Given the description of an element on the screen output the (x, y) to click on. 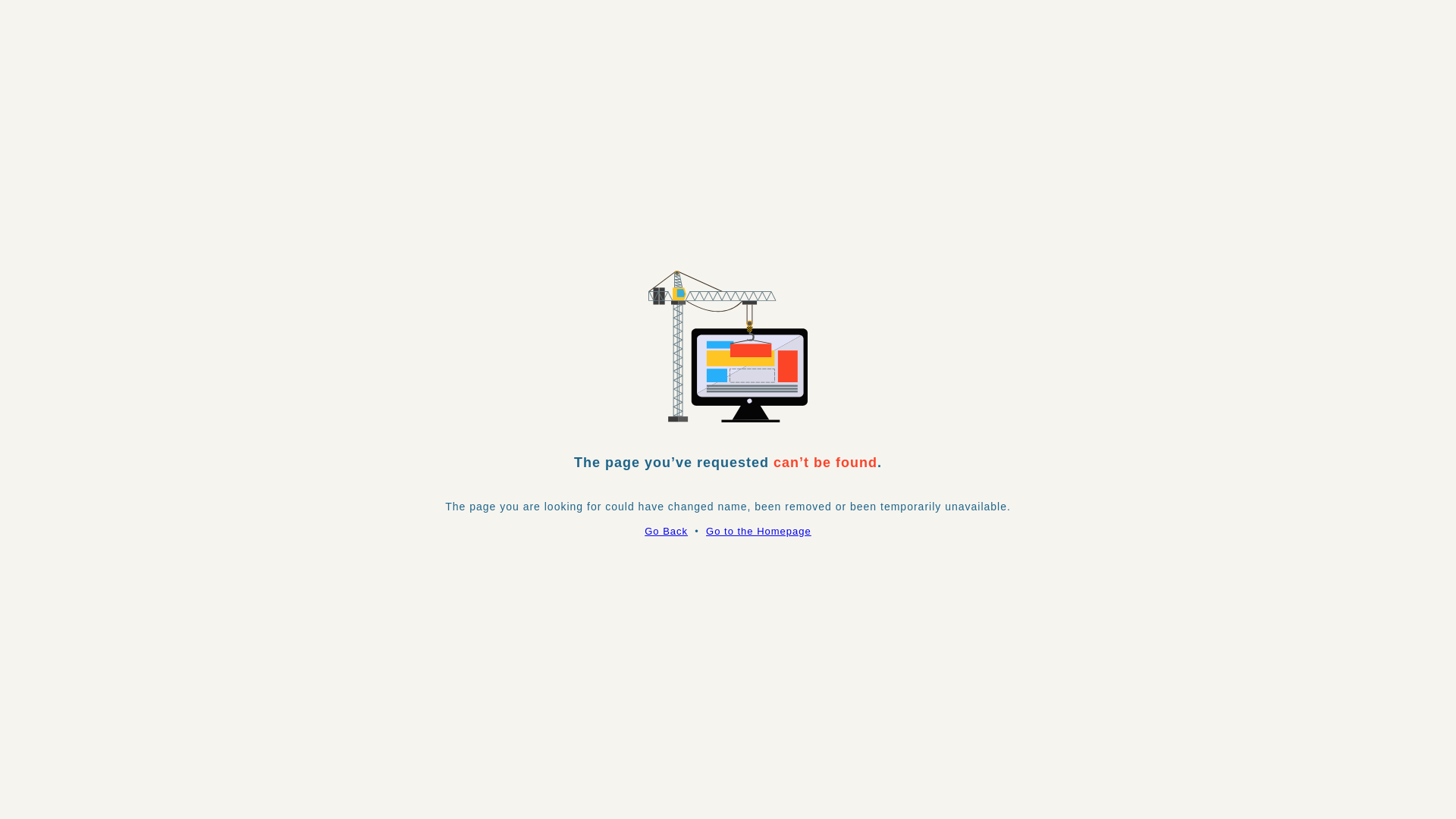
Go Back Element type: text (665, 530)
Go to the Homepage Element type: text (758, 530)
